Given the description of an element on the screen output the (x, y) to click on. 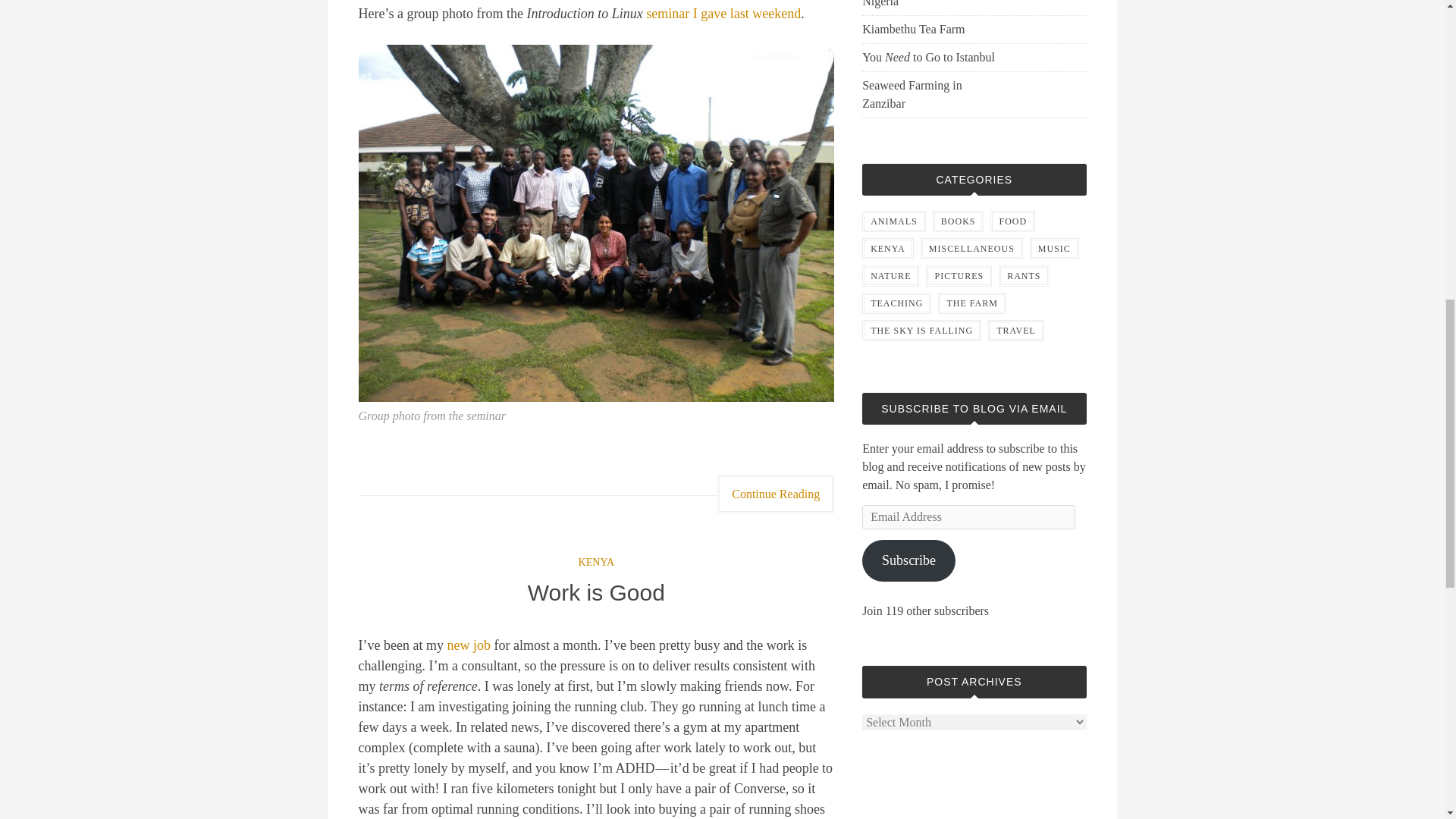
The Tragic Comedy That Is Nigeria (934, 5)
I got a new job (468, 645)
KENYA (596, 562)
seminar I gave last weekend (723, 13)
You Need to Go to Istanbul (934, 57)
Seminar: Introduction to Linux (723, 13)
Work is Good (596, 592)
Kiambethu Tea Farm (934, 29)
Continue Reading (775, 494)
new job (468, 645)
